Given the description of an element on the screen output the (x, y) to click on. 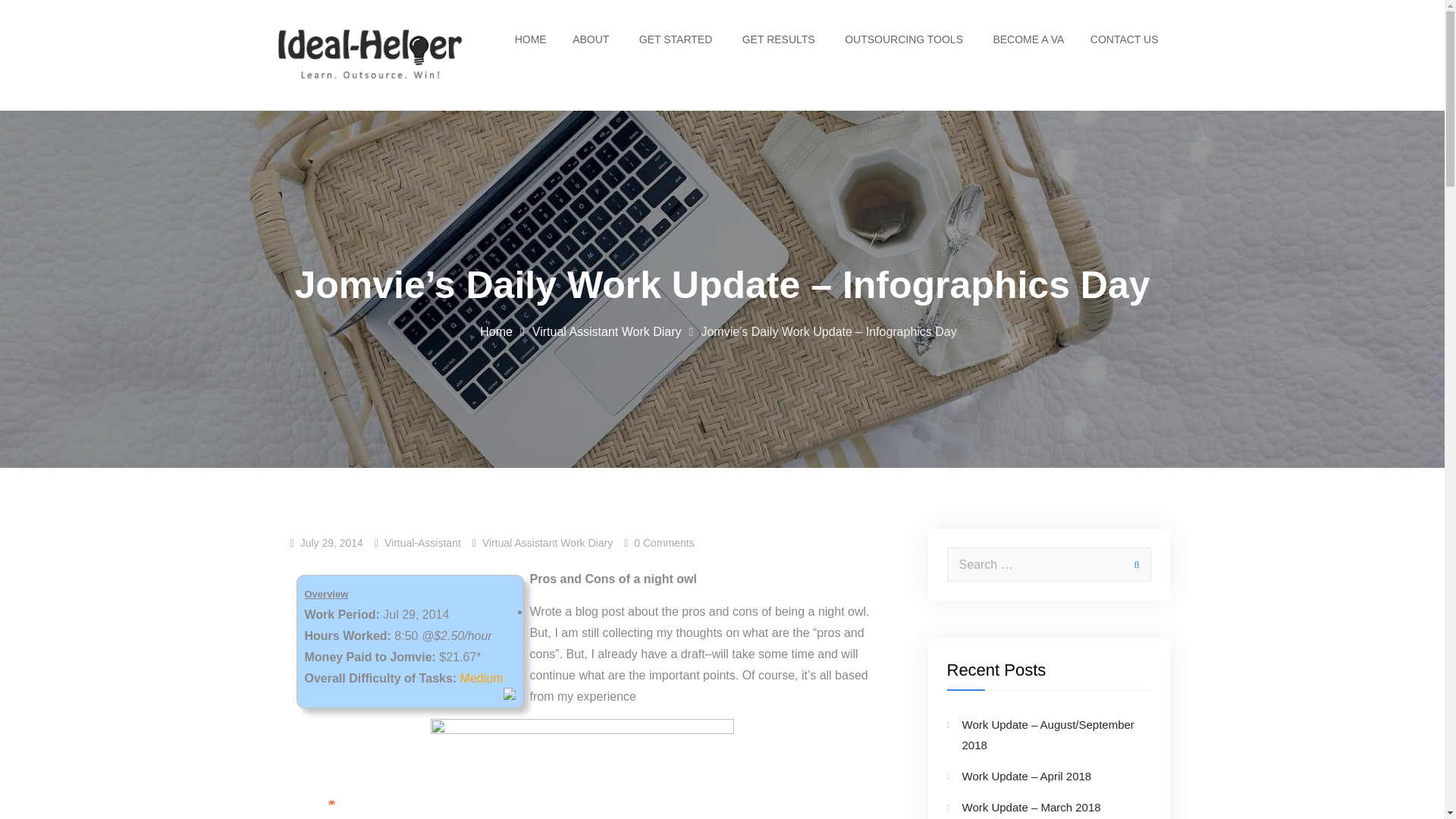
GET STARTED (676, 39)
GET RESULTS (779, 39)
HOME (530, 39)
ABOUT (592, 39)
